Given the description of an element on the screen output the (x, y) to click on. 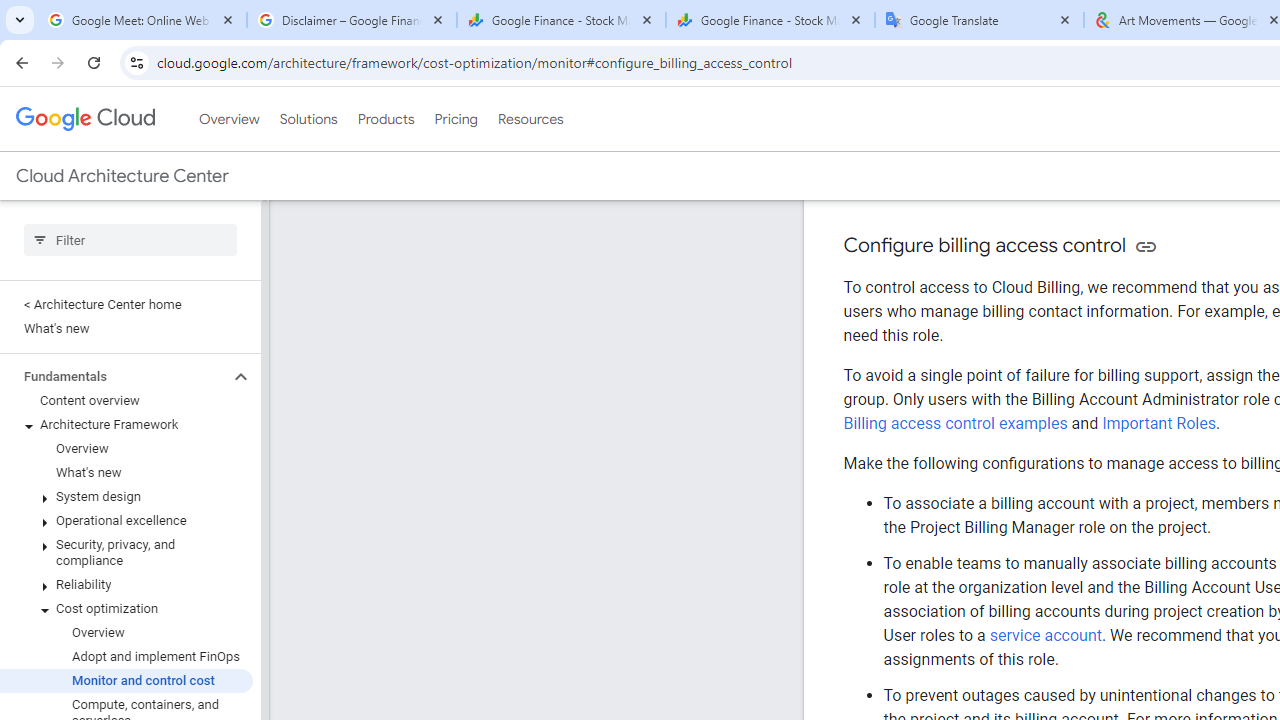
Monitor and control cost (126, 680)
Google Translate (979, 20)
Important Roles (1159, 422)
< Architecture Center home (126, 304)
